Given the description of an element on the screen output the (x, y) to click on. 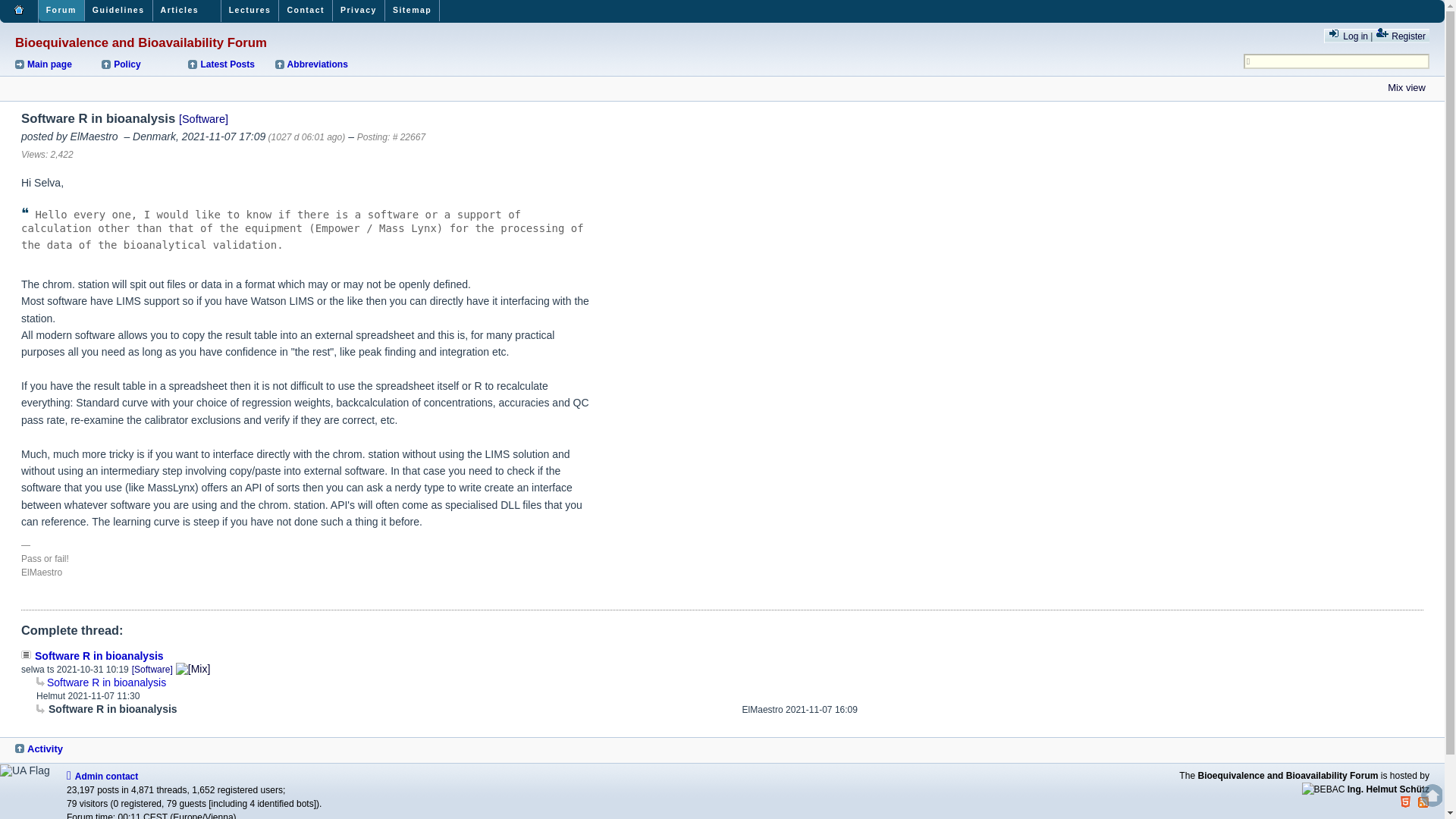
 Log in (1347, 35)
Sitemap (412, 10)
Collection of Articles (186, 11)
Activity (58, 748)
register as new user (1400, 35)
Latest Posts (229, 64)
Guidelines (118, 10)
 Register (1400, 35)
